Given the description of an element on the screen output the (x, y) to click on. 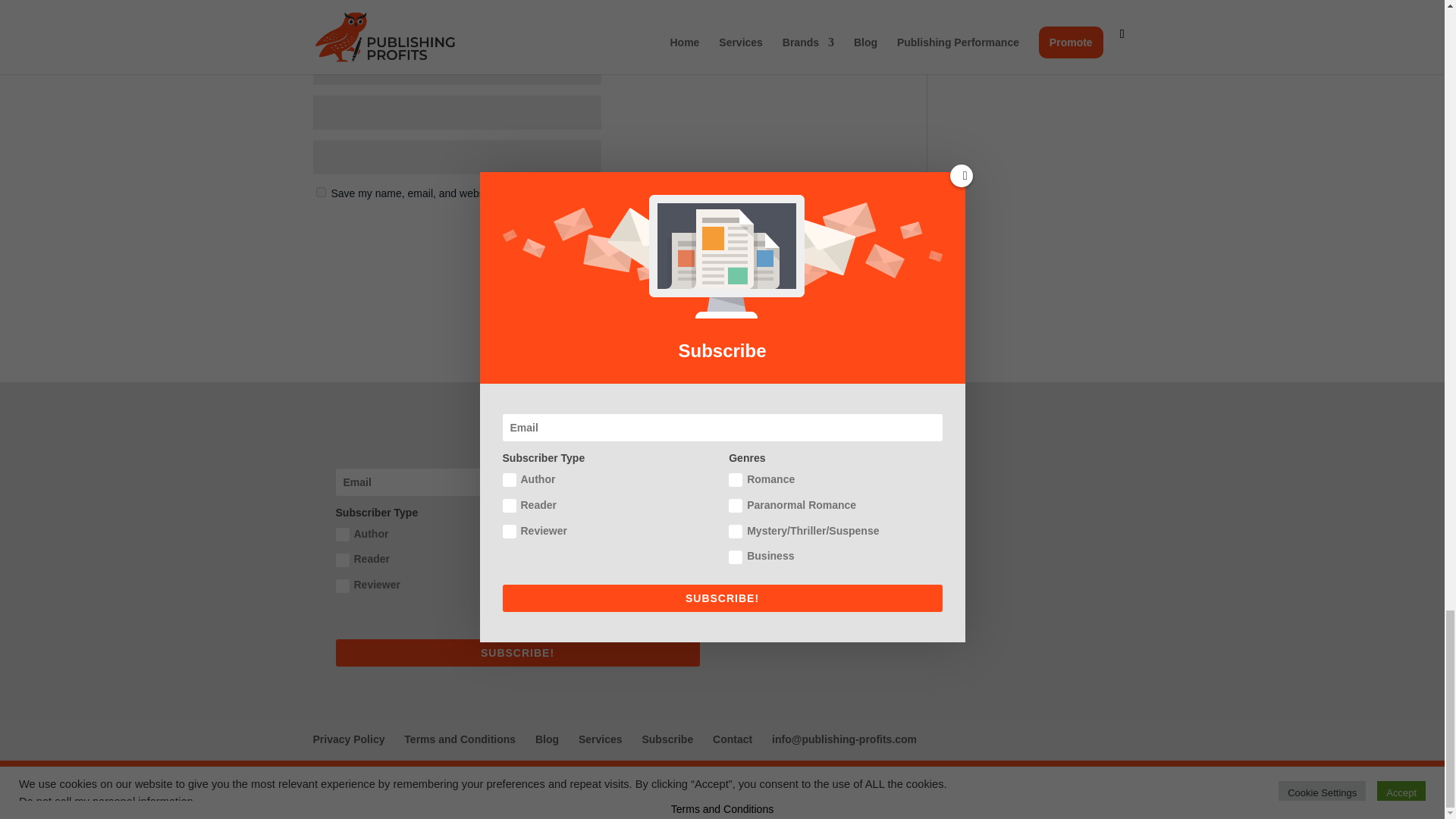
SUBSCRIBE! (516, 652)
Privacy Policy (348, 739)
Submit Comment (847, 232)
yes (319, 192)
Submit Comment (847, 232)
